Given the description of an element on the screen output the (x, y) to click on. 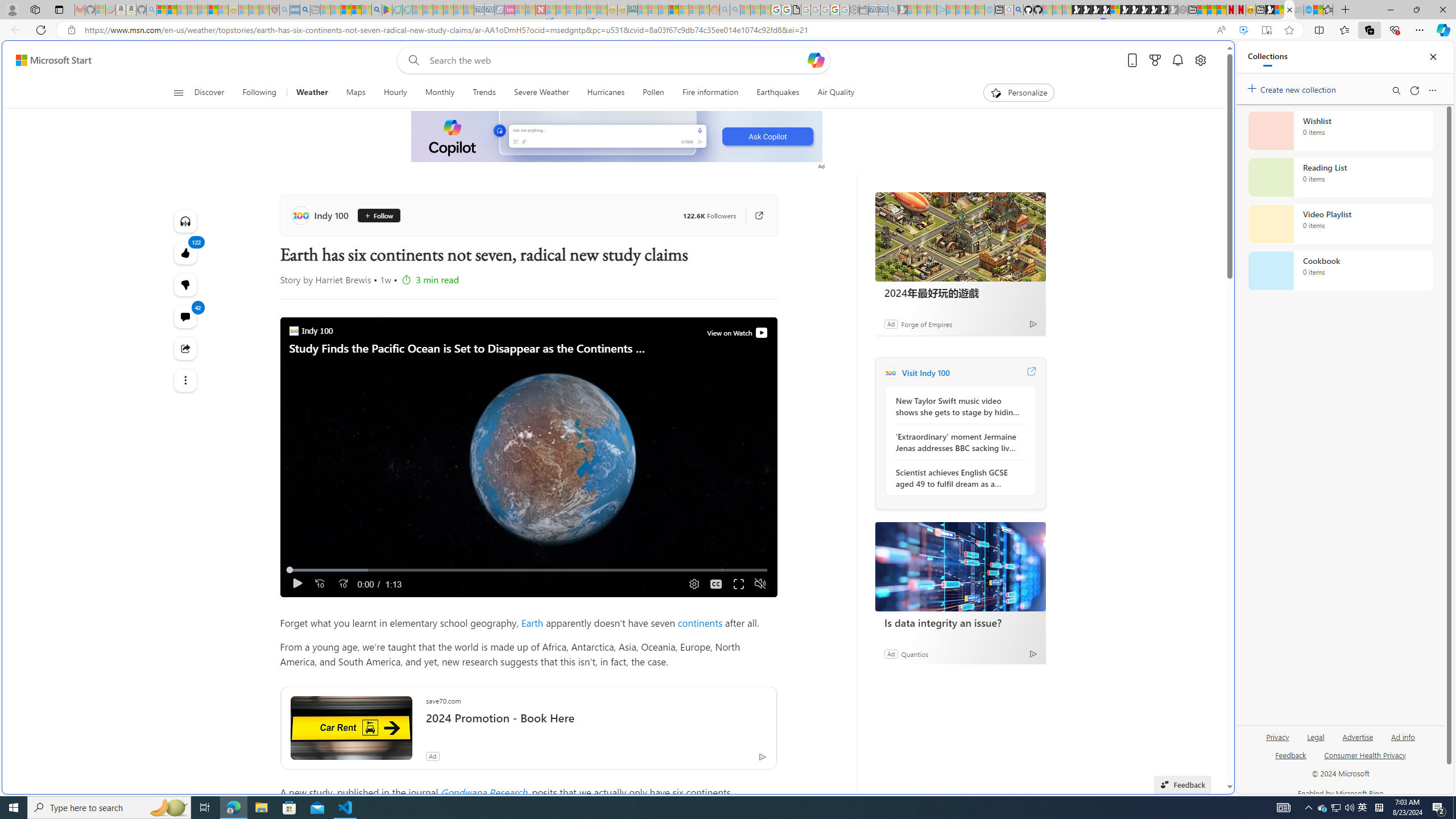
122 Like (184, 252)
View on Watch (761, 332)
save70.com 2024 Promotion - Book Here (596, 714)
Trusted Community Engagement and Contributions | Guidelines (550, 9)
Listen to this article (184, 220)
Earthquakes (778, 92)
Microsoft Start Gaming - Sleeping (902, 9)
Class: button-glyph (178, 92)
